Given the description of an element on the screen output the (x, y) to click on. 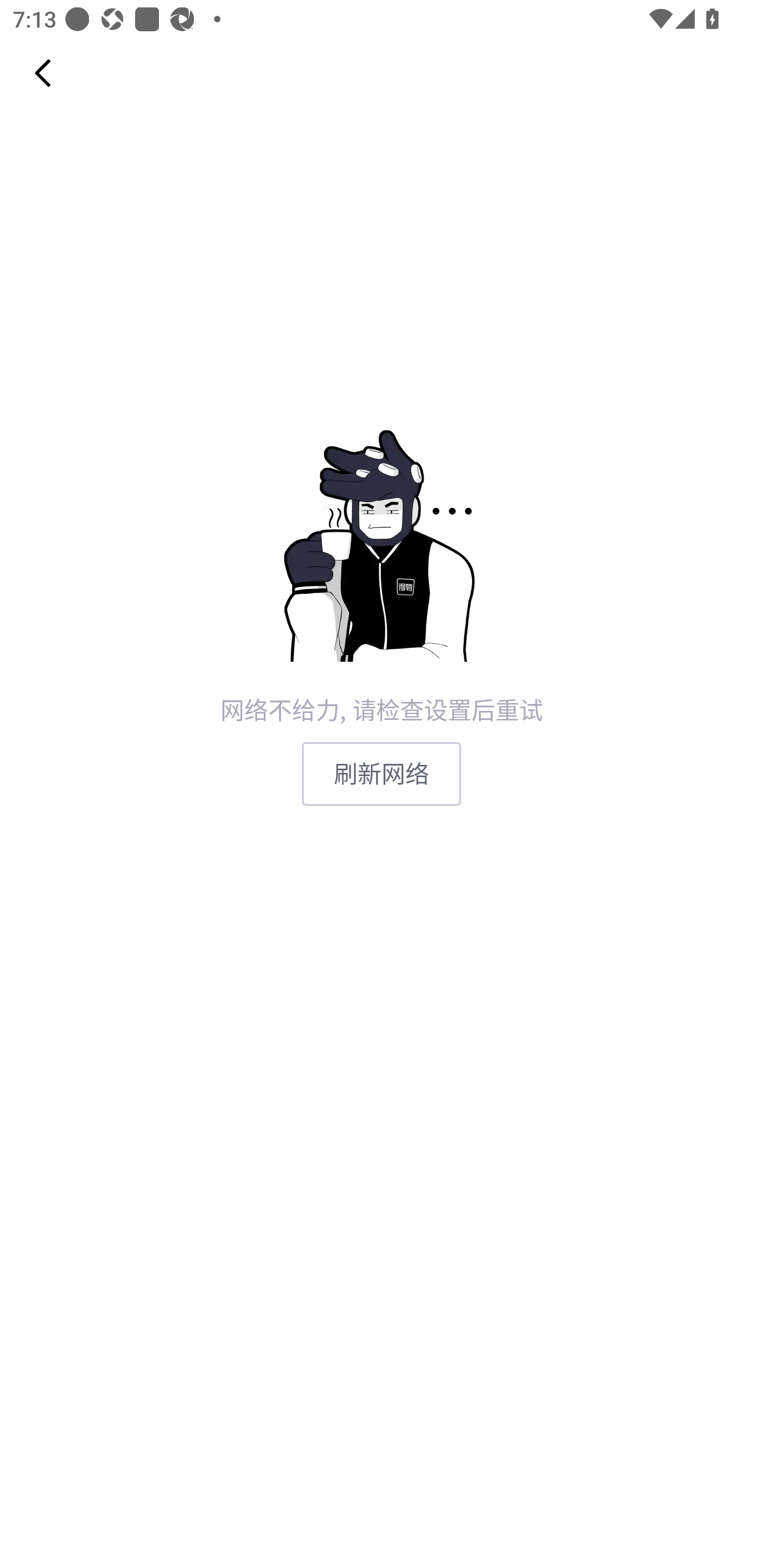
刷新网络 (381, 773)
